Given the description of an element on the screen output the (x, y) to click on. 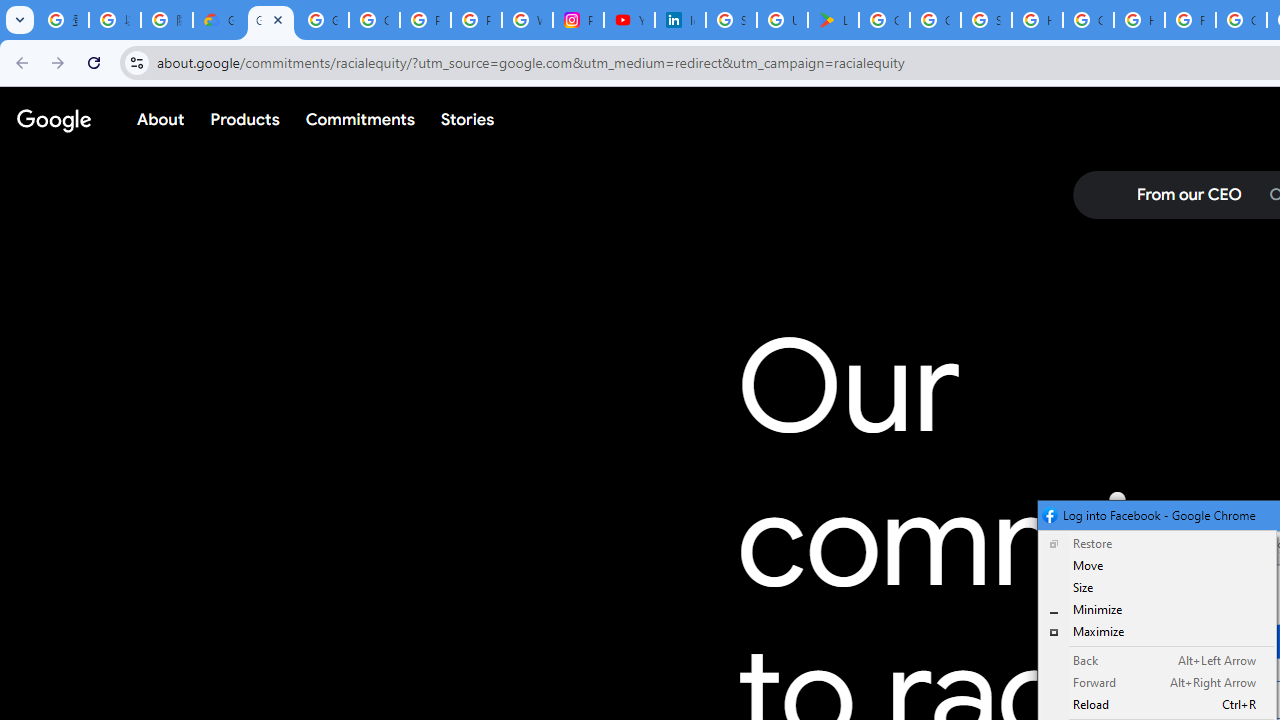
Back	Alt+Left Arrow (1156, 660)
Maximize (1156, 631)
Move (1156, 565)
Size (1156, 587)
Forward	Alt+Right Arrow (1156, 682)
Reload	Ctrl+R (1156, 704)
